Given the description of an element on the screen output the (x, y) to click on. 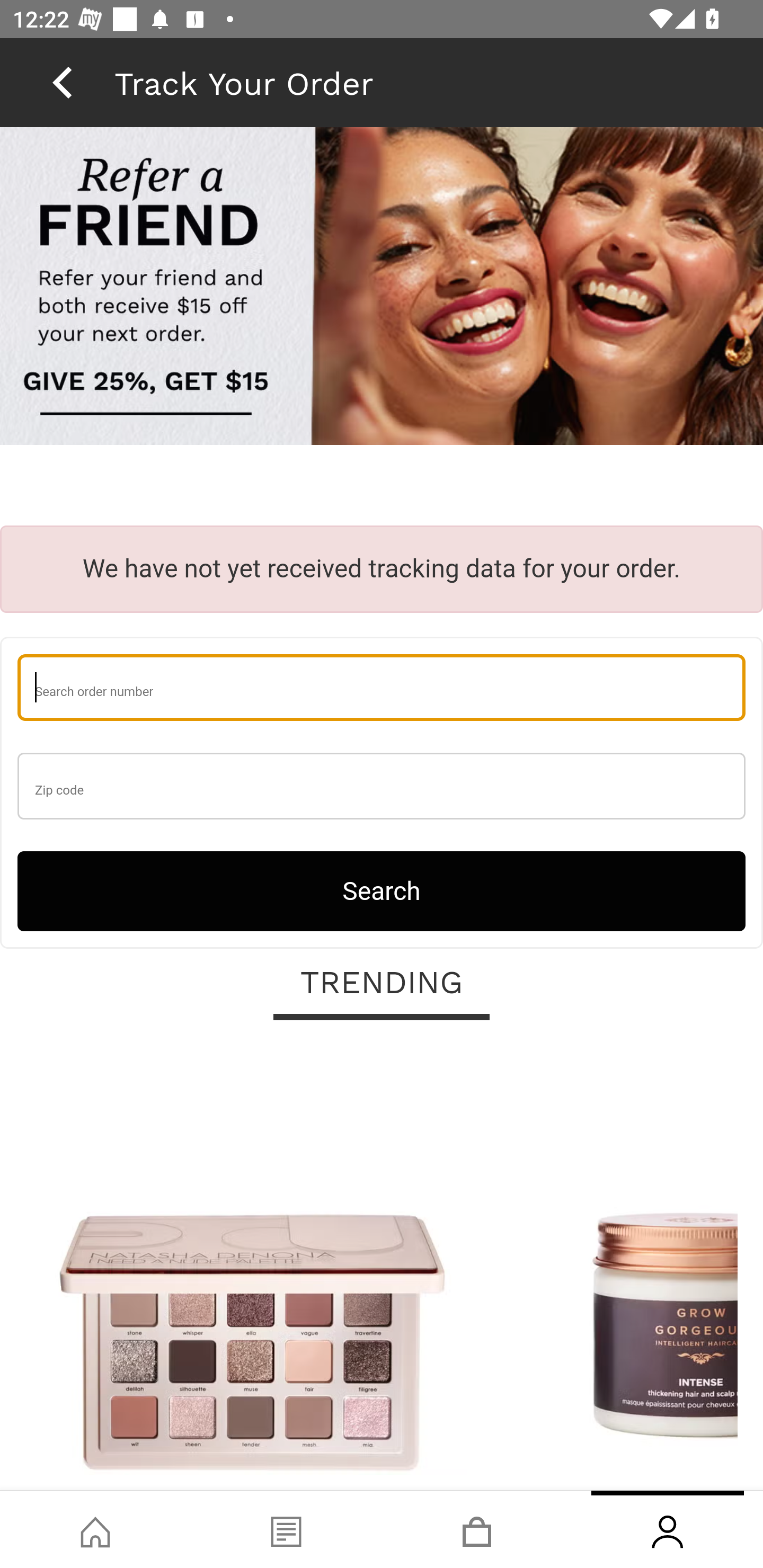
back (61, 82)
raf (381, 288)
Search (381, 890)
TRENDING (381, 983)
Natasha Denona I Need A Nude Palette (252, 1266)
Shop, tab, 1 of 4 (95, 1529)
Blog, tab, 2 of 4 (285, 1529)
Basket, tab, 3 of 4 (476, 1529)
Account, tab, 4 of 4 (667, 1529)
